Given the description of an element on the screen output the (x, y) to click on. 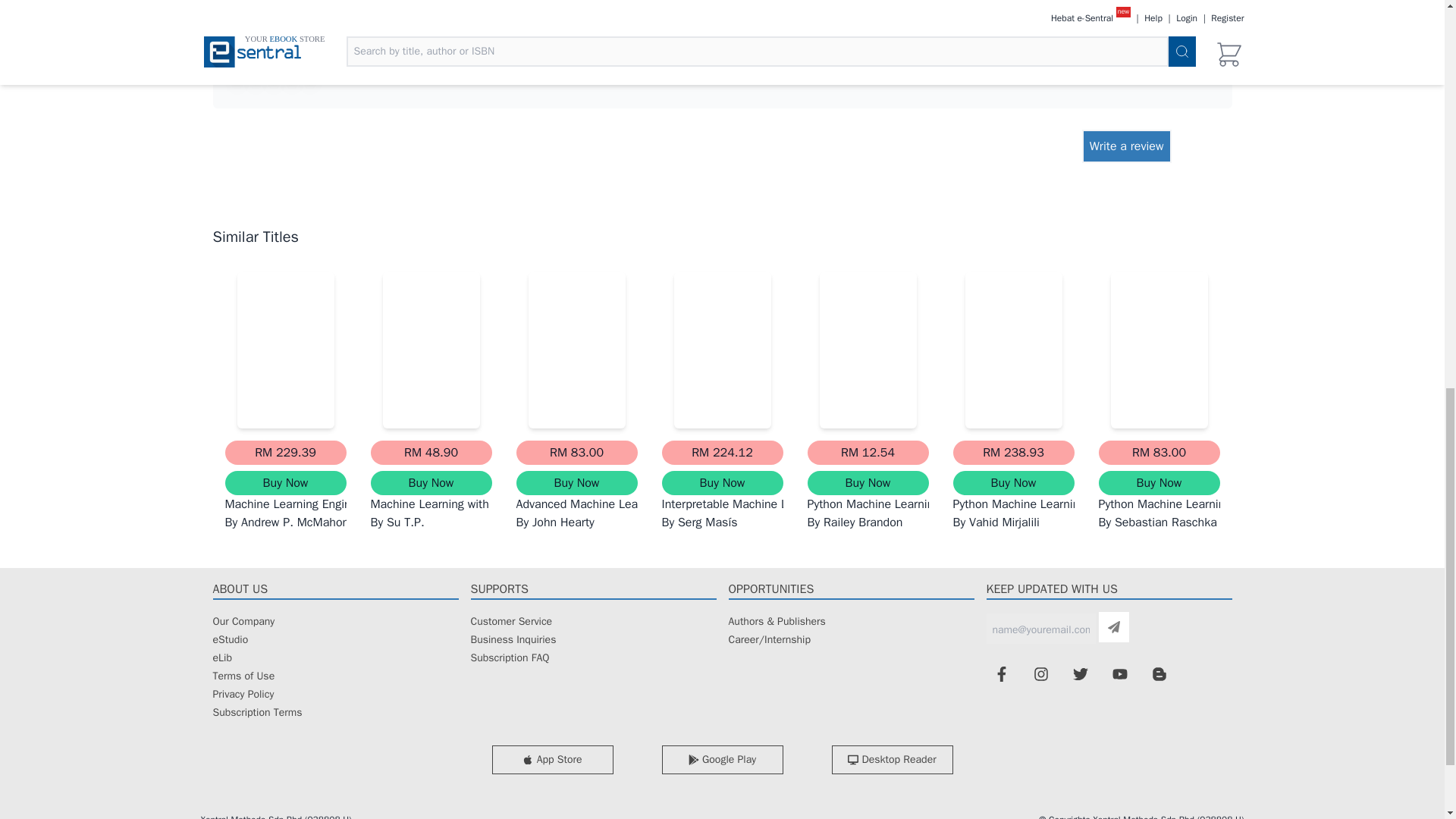
RM 224.12 (722, 452)
Buy Now (867, 482)
RM 83.00 (576, 452)
Buy Now (576, 482)
RM 48.90 (430, 452)
RM 12.54 (867, 452)
Buy Now (285, 482)
Buy Now (430, 482)
Write a review (1126, 145)
Buy Now (722, 482)
RM 229.39 (285, 452)
